Given the description of an element on the screen output the (x, y) to click on. 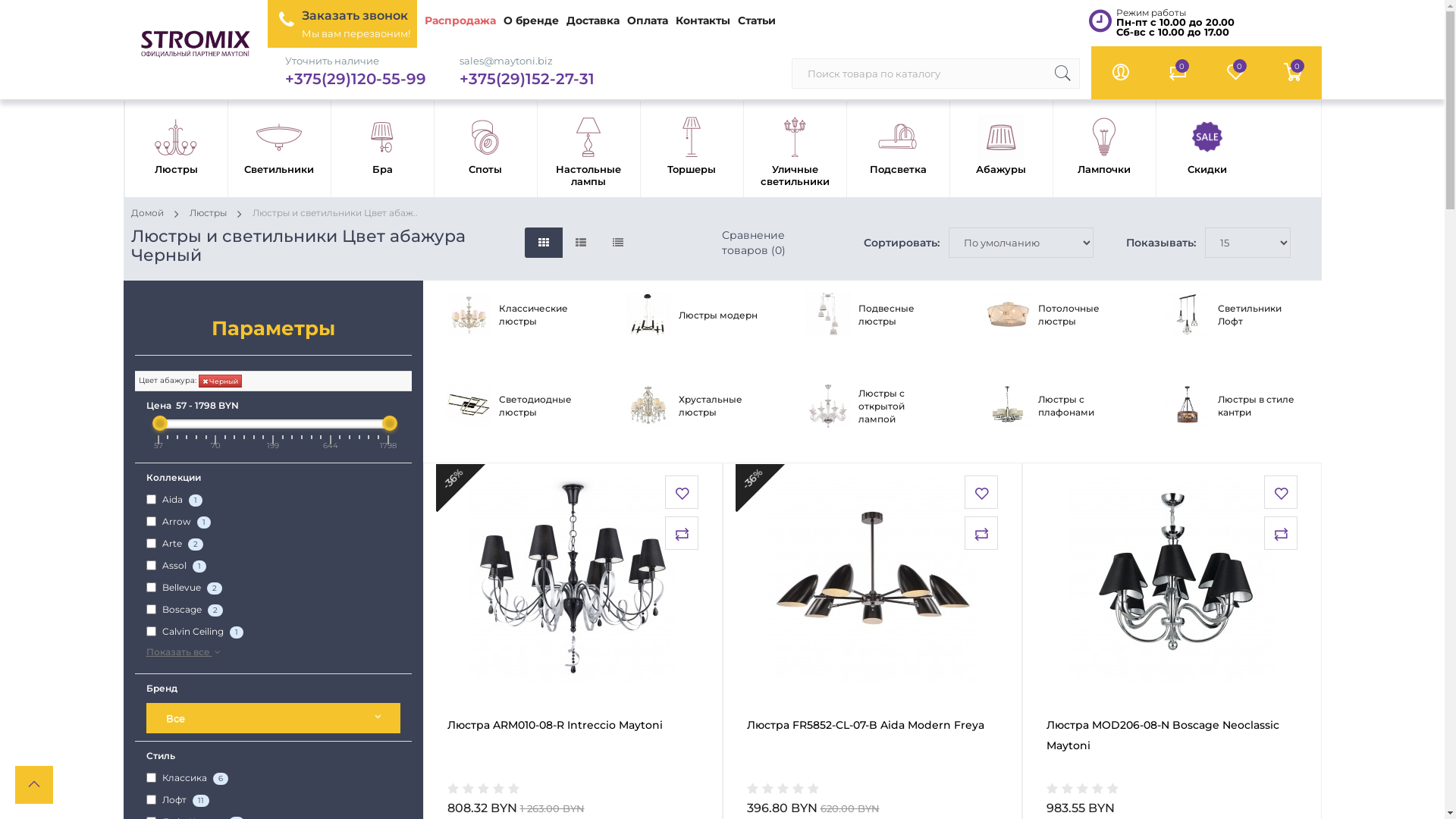
0 Element type: text (1176, 72)
0 Element type: text (1234, 72)
+375(29)152-27-31 Element type: text (526, 78)
0 Element type: text (1292, 72)
stromix.by Element type: hover (194, 42)
+375(29)120-55-99 Element type: text (355, 78)
sales@maytoni.biz
+375(29)152-27-31 Element type: text (526, 71)
